Given the description of an element on the screen output the (x, y) to click on. 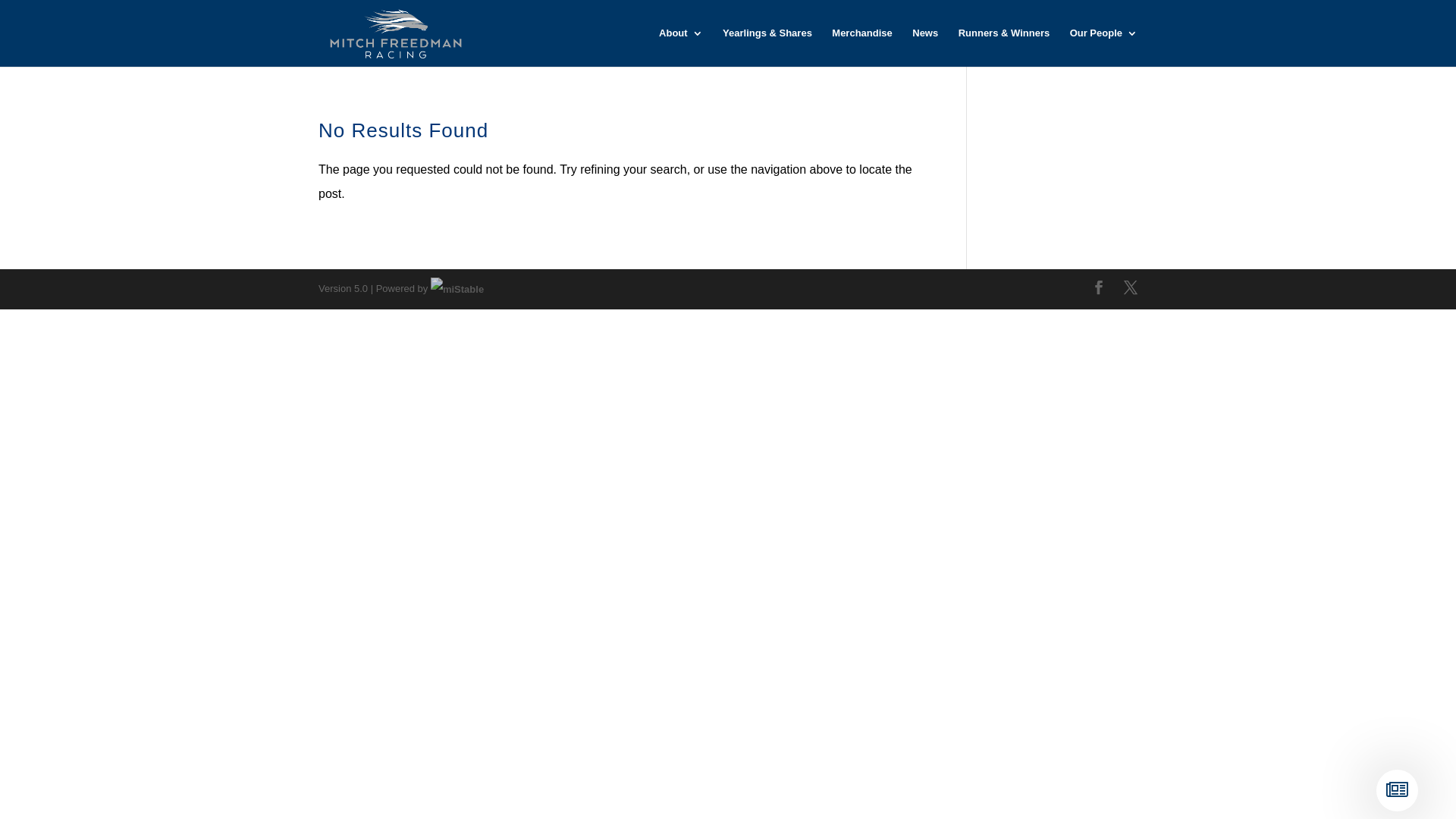
Horse Management Software Element type: hover (456, 288)
Yearlings & Shares Element type: text (767, 47)
Our People Element type: text (1103, 47)
Merchandise Element type: text (861, 47)
Runners & Winners Element type: text (1004, 47)
About Element type: text (680, 47)
News Element type: text (925, 47)
